Given the description of an element on the screen output the (x, y) to click on. 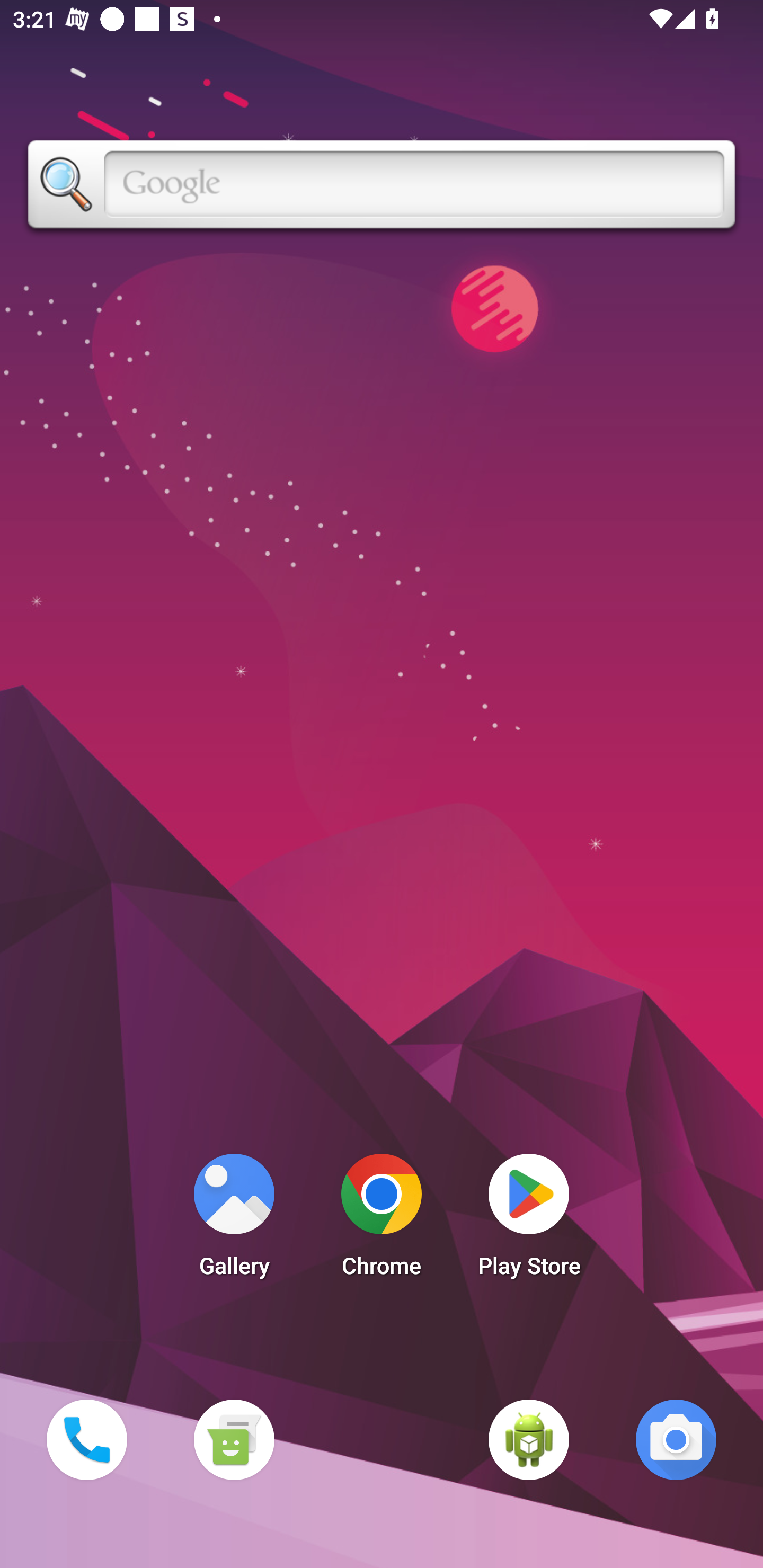
Gallery (233, 1220)
Chrome (381, 1220)
Play Store (528, 1220)
Phone (86, 1439)
Messaging (233, 1439)
WebView Browser Tester (528, 1439)
Camera (676, 1439)
